Given the description of an element on the screen output the (x, y) to click on. 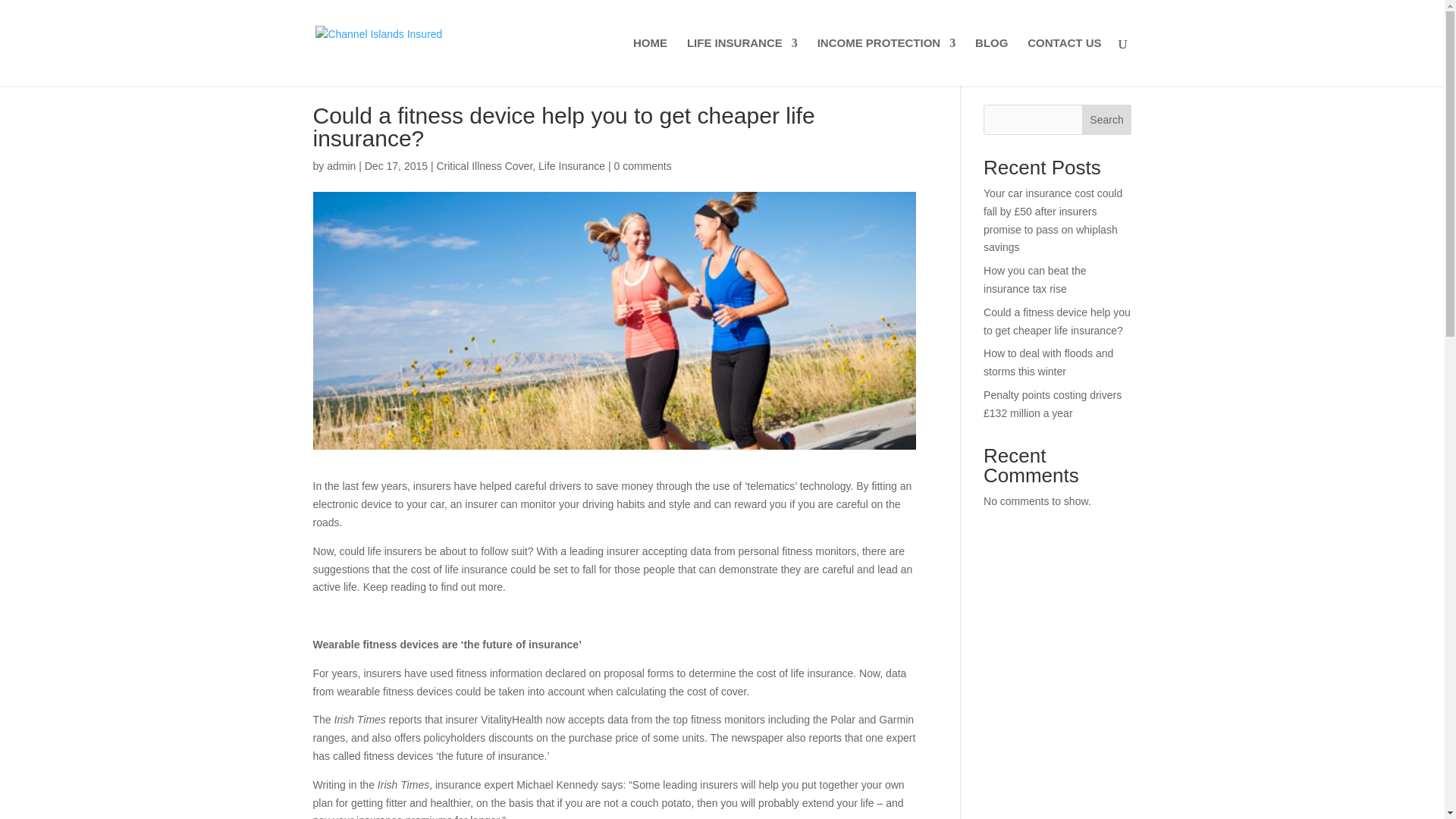
admin (340, 165)
Posts by admin (340, 165)
CONTACT US (1063, 61)
How you can beat the insurance tax rise (1035, 279)
Life Insurance (571, 165)
How to deal with floods and storms this winter (1048, 362)
Search (1106, 119)
INCOME PROTECTION (886, 61)
0 comments (641, 165)
Critical Illness Cover (483, 165)
